Given the description of an element on the screen output the (x, y) to click on. 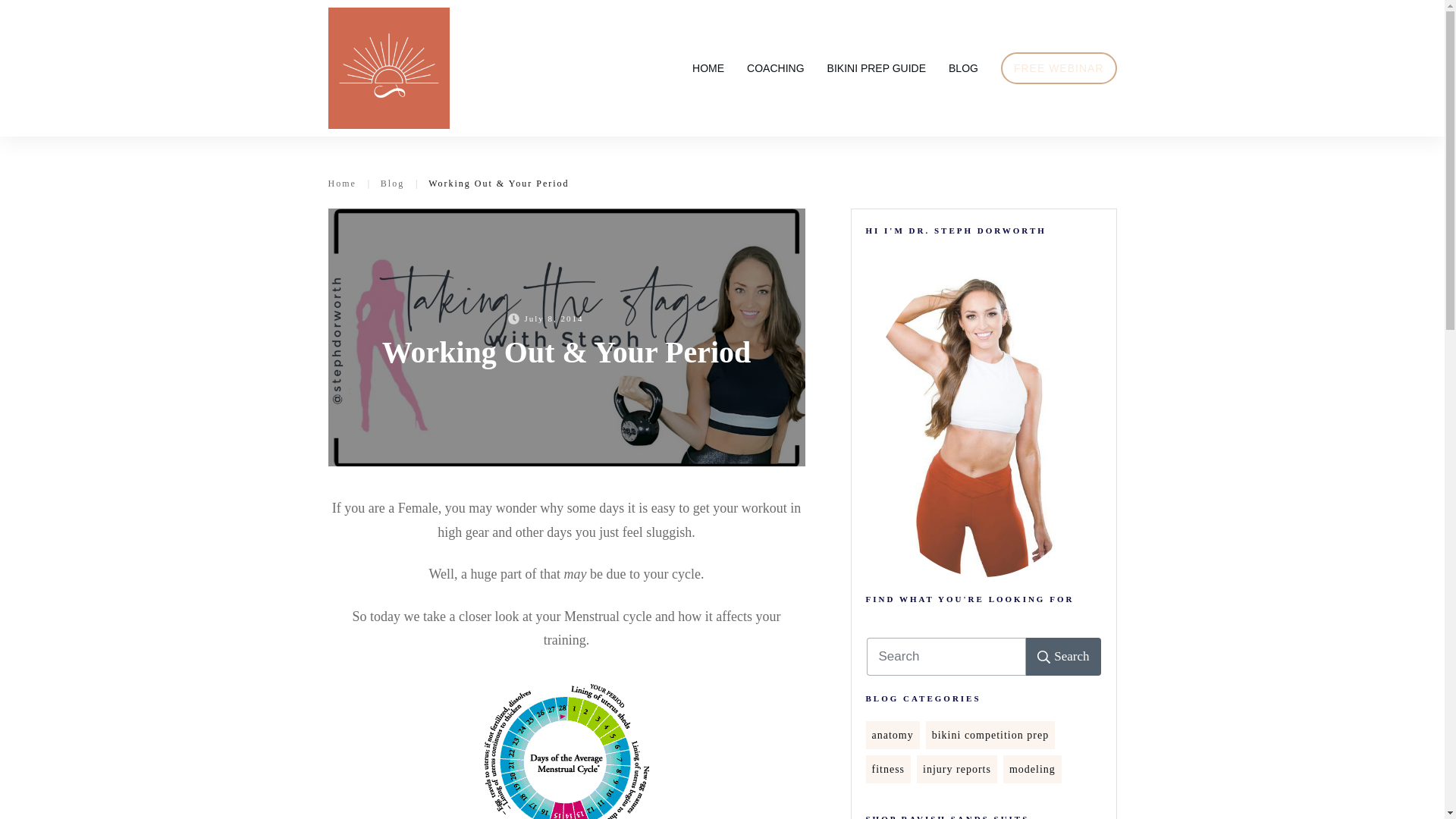
modeling (1032, 769)
HOME (708, 67)
fitness (888, 769)
anatomy (893, 734)
injury reports (957, 769)
BLOG (963, 67)
BIKINI PREP GUIDE (876, 67)
bikini competition prep (989, 734)
Blog (392, 183)
Home (341, 183)
FREE WEBINAR (1058, 67)
COACHING (774, 67)
Search (1063, 656)
